Given the description of an element on the screen output the (x, y) to click on. 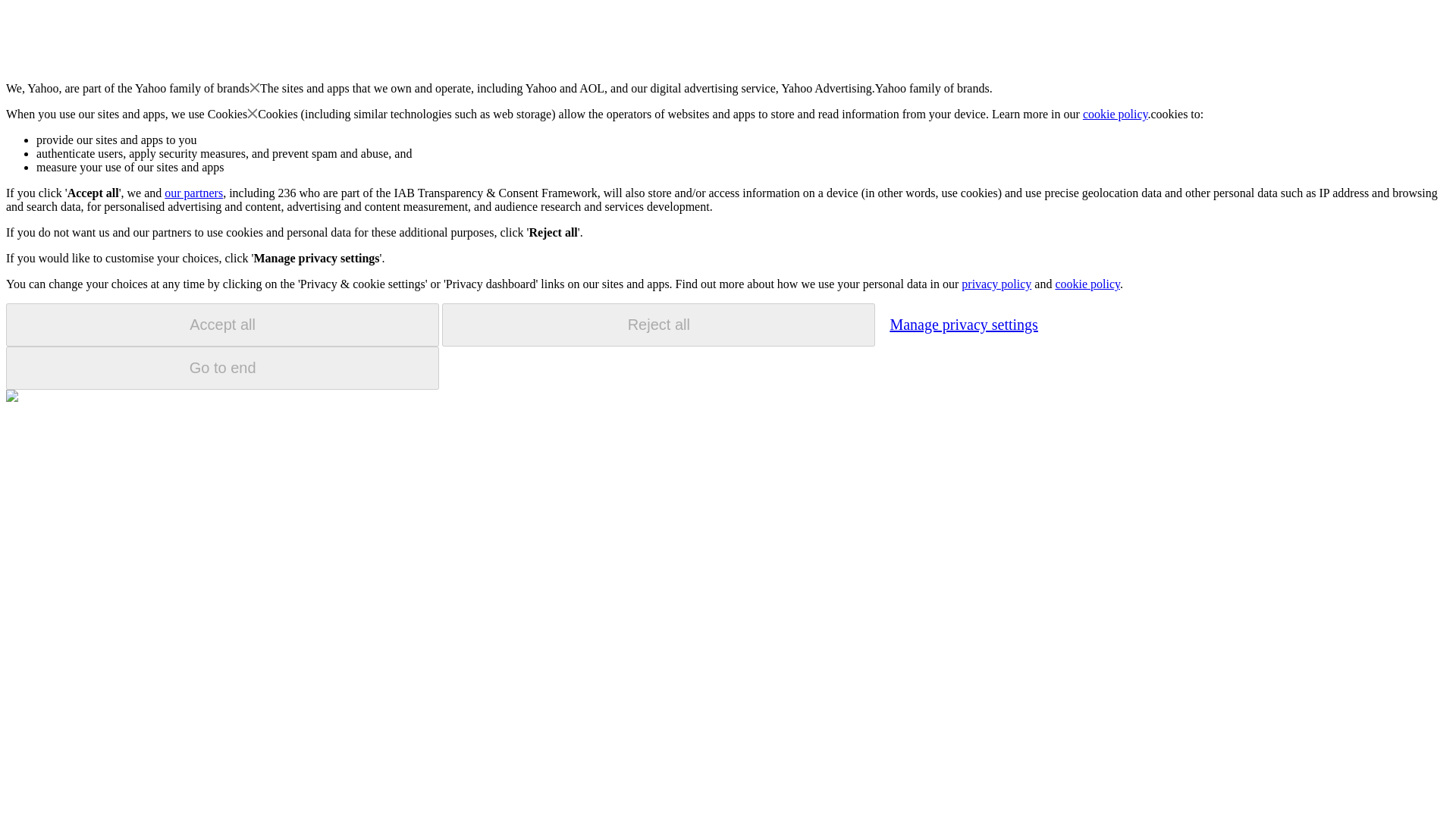
cookie policy (1086, 283)
Go to end (222, 367)
Accept all (222, 324)
cookie policy (1115, 113)
our partners (193, 192)
Reject all (658, 324)
privacy policy (995, 283)
Manage privacy settings (963, 323)
